Given the description of an element on the screen output the (x, y) to click on. 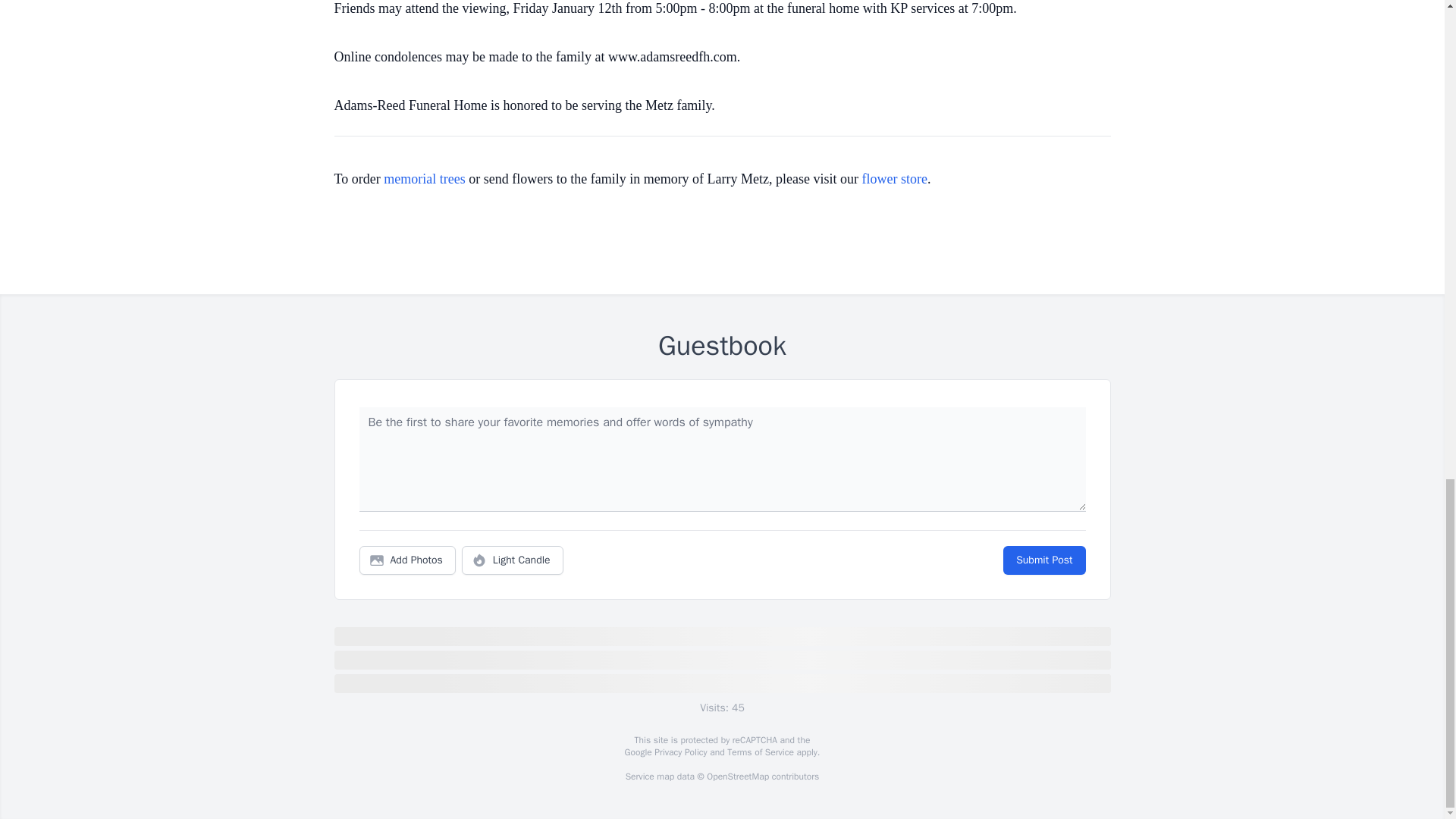
OpenStreetMap (737, 776)
Light Candle (512, 560)
Add Photos (407, 560)
Privacy Policy (679, 752)
flower store (894, 178)
Submit Post (1043, 560)
Terms of Service (759, 752)
memorial trees (424, 178)
